Given the description of an element on the screen output the (x, y) to click on. 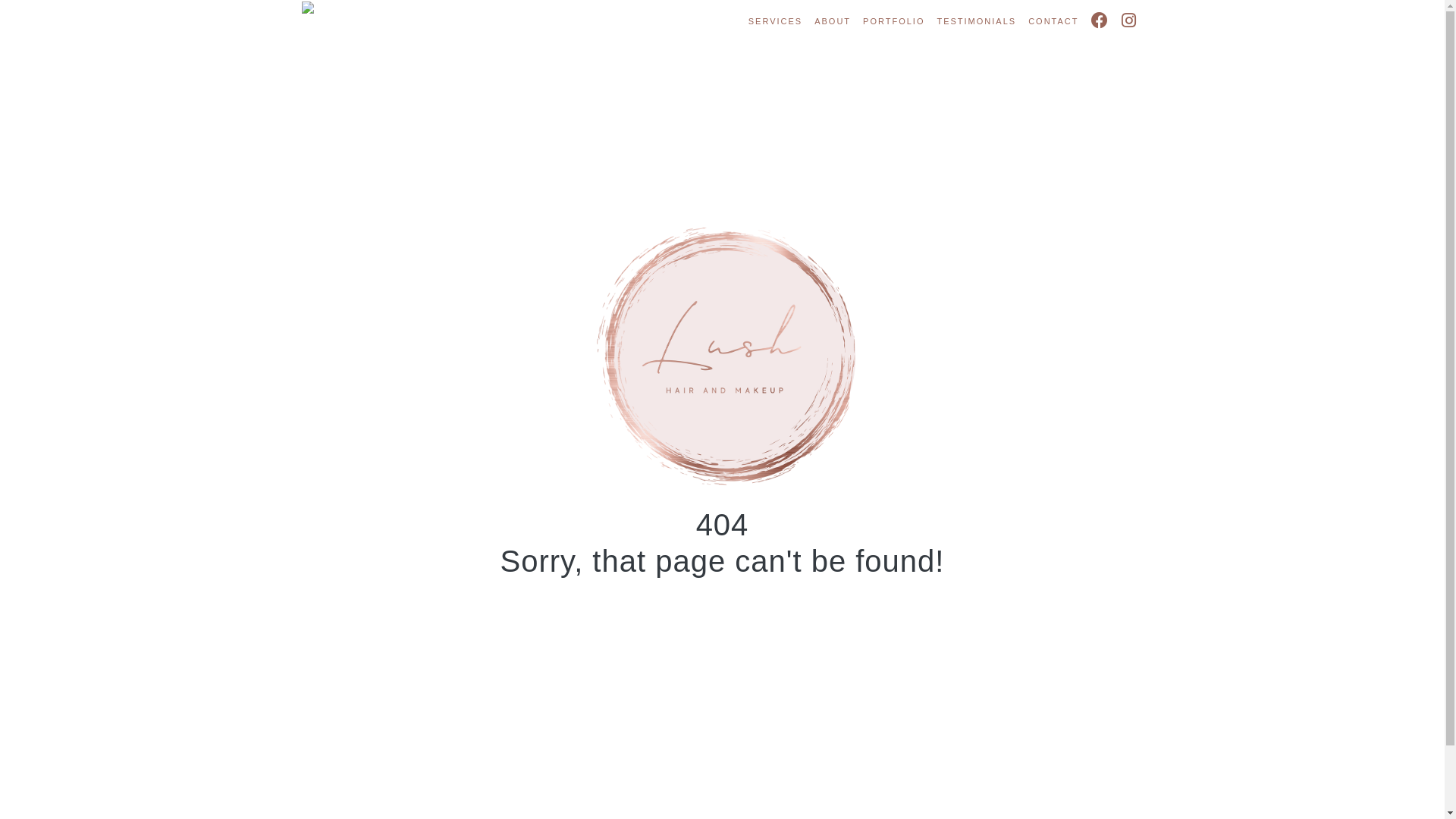
SERVICES Element type: text (775, 21)
TESTIMONIALS Element type: text (976, 21)
PORTFOLIO Element type: text (893, 21)
ABOUT Element type: text (832, 21)
CONTACT Element type: text (1053, 21)
